Given the description of an element on the screen output the (x, y) to click on. 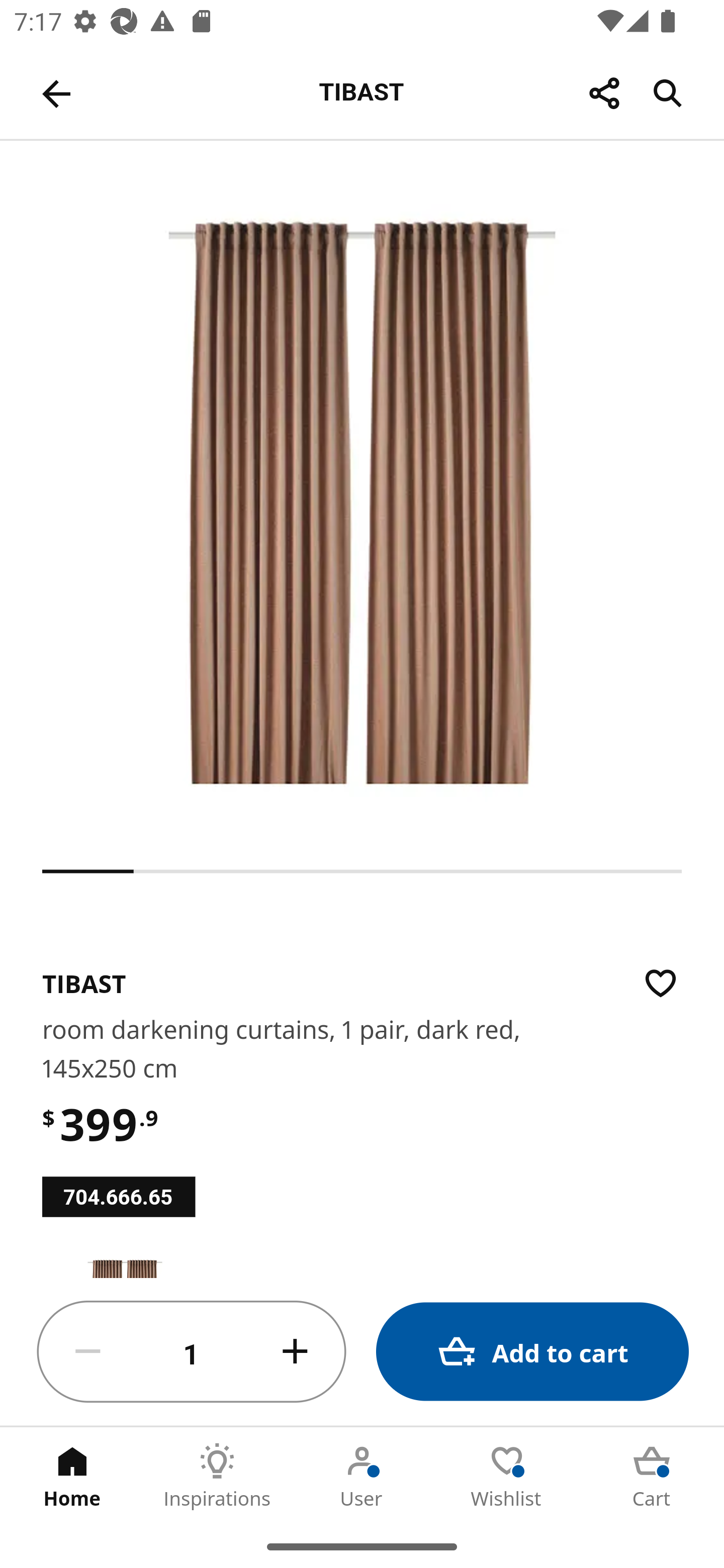
Add to cart (531, 1352)
1 (191, 1352)
Home
Tab 1 of 5 (72, 1476)
Inspirations
Tab 2 of 5 (216, 1476)
User
Tab 3 of 5 (361, 1476)
Wishlist
Tab 4 of 5 (506, 1476)
Cart
Tab 5 of 5 (651, 1476)
